Given the description of an element on the screen output the (x, y) to click on. 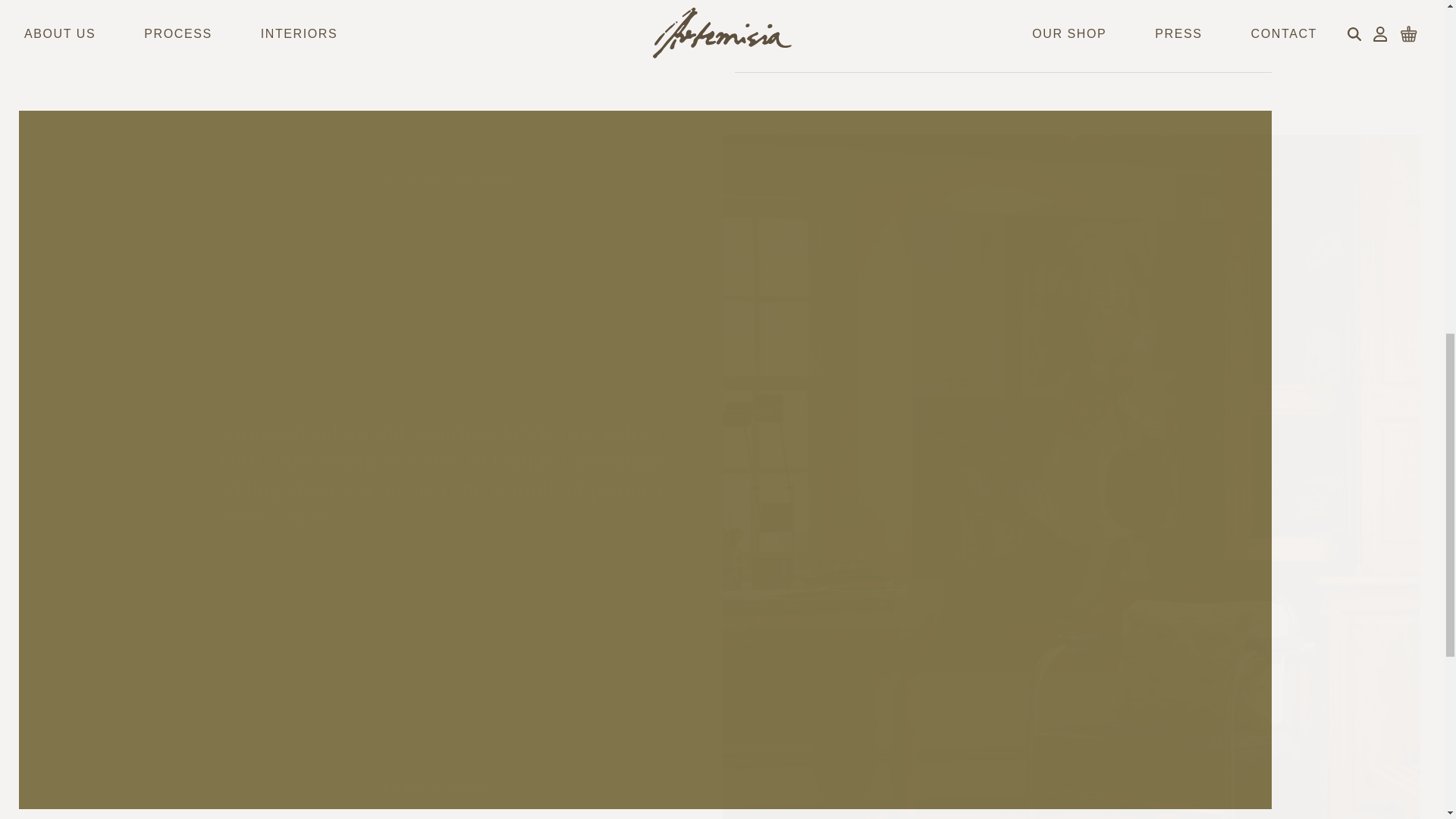
  Behind the Scenes (448, 778)
Behind the Scenes (448, 786)
INTERIOR DESIGN (448, 180)
